Given the description of an element on the screen output the (x, y) to click on. 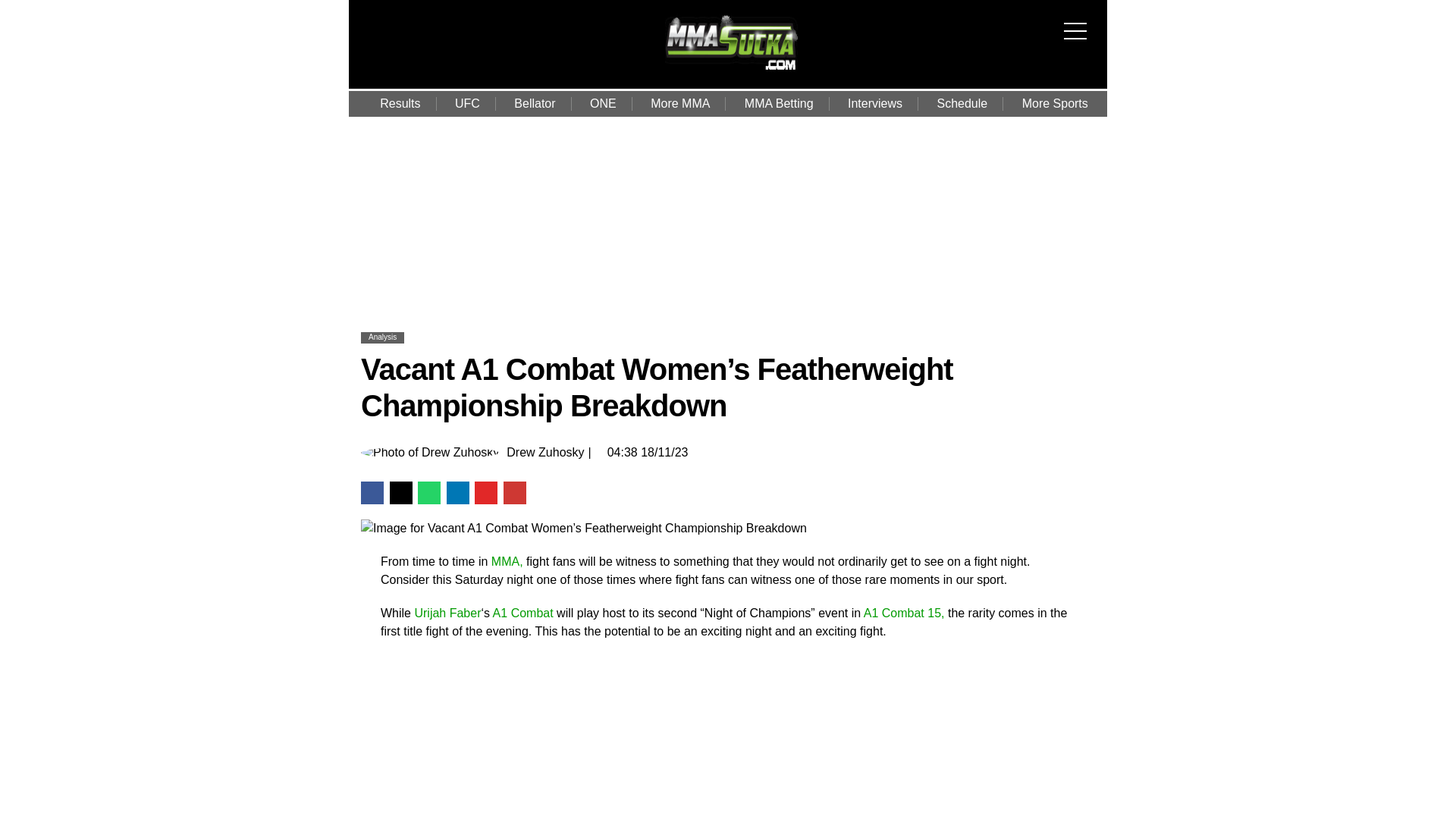
Bellator (534, 103)
Back to the homepage (729, 70)
More MMA (679, 103)
UFC (467, 103)
Menu (1078, 21)
ONE (603, 103)
Results (400, 103)
